Given the description of an element on the screen output the (x, y) to click on. 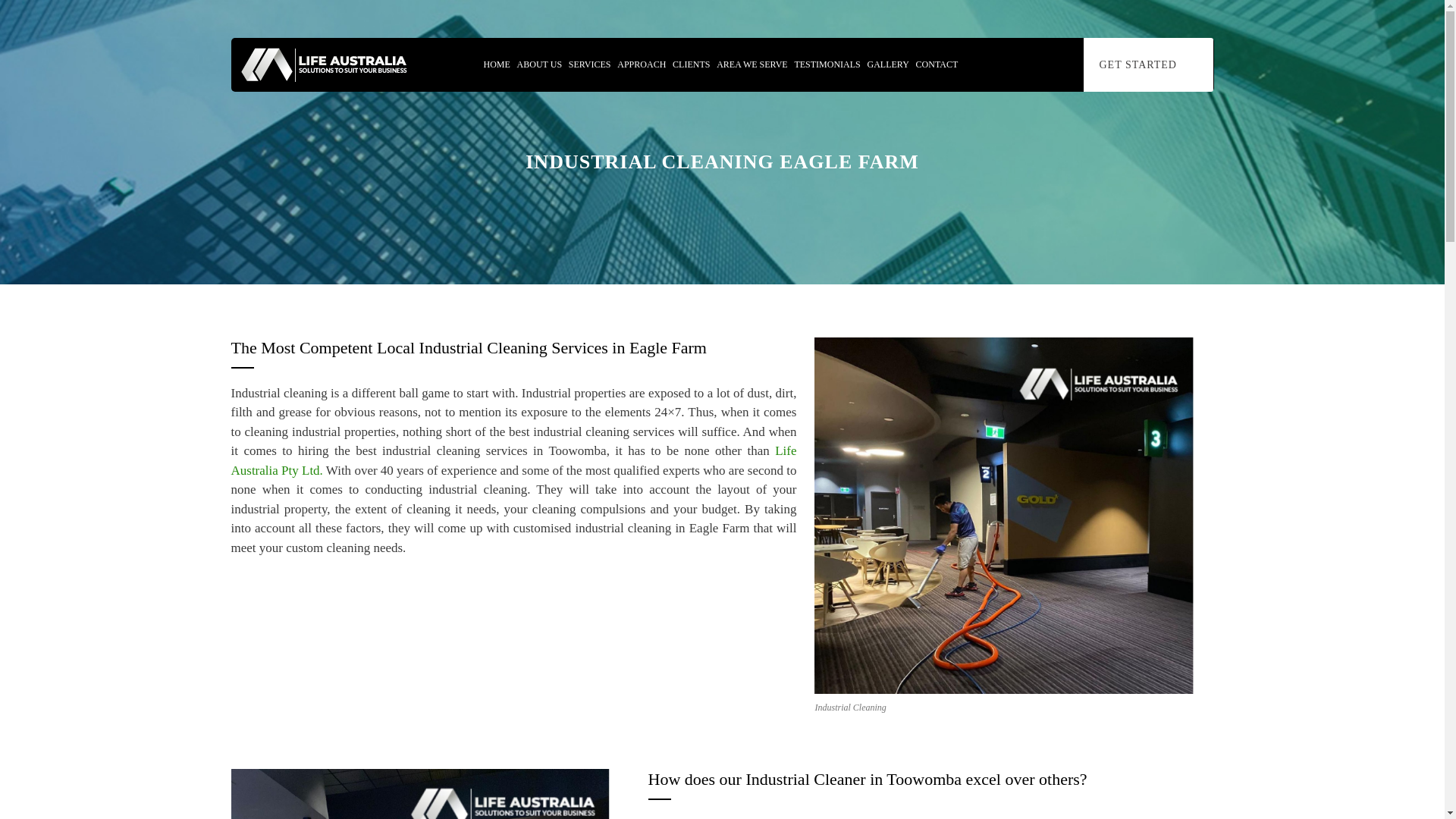
SERVICES (589, 64)
CLIENTS (690, 64)
GALLERY (887, 64)
Life Australia Pty Ltd. (513, 460)
HOME (496, 64)
APPROACH (641, 64)
GET STARTED (1147, 64)
ABOUT US (539, 64)
CONTACT (937, 64)
TESTIMONIALS (826, 64)
AREA WE SERVE (752, 64)
